Given the description of an element on the screen output the (x, y) to click on. 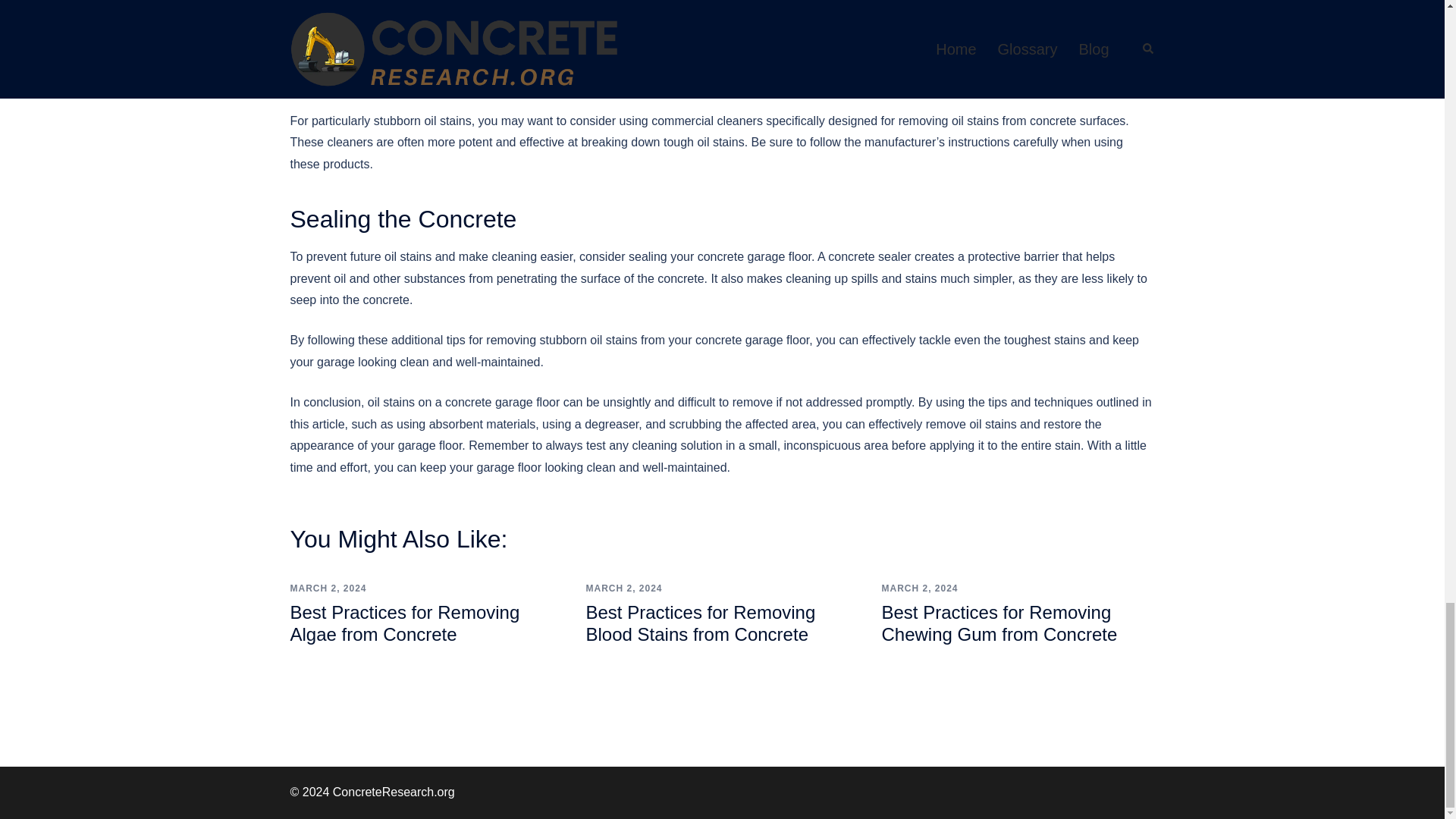
MARCH 2, 2024 (919, 588)
MARCH 2, 2024 (623, 588)
Best Practices for Removing Chewing Gum from Concrete (998, 622)
Best Practices for Removing Algae from Concrete (404, 622)
MARCH 2, 2024 (327, 588)
Best Practices for Removing Blood Stains from Concrete (700, 622)
